Given the description of an element on the screen output the (x, y) to click on. 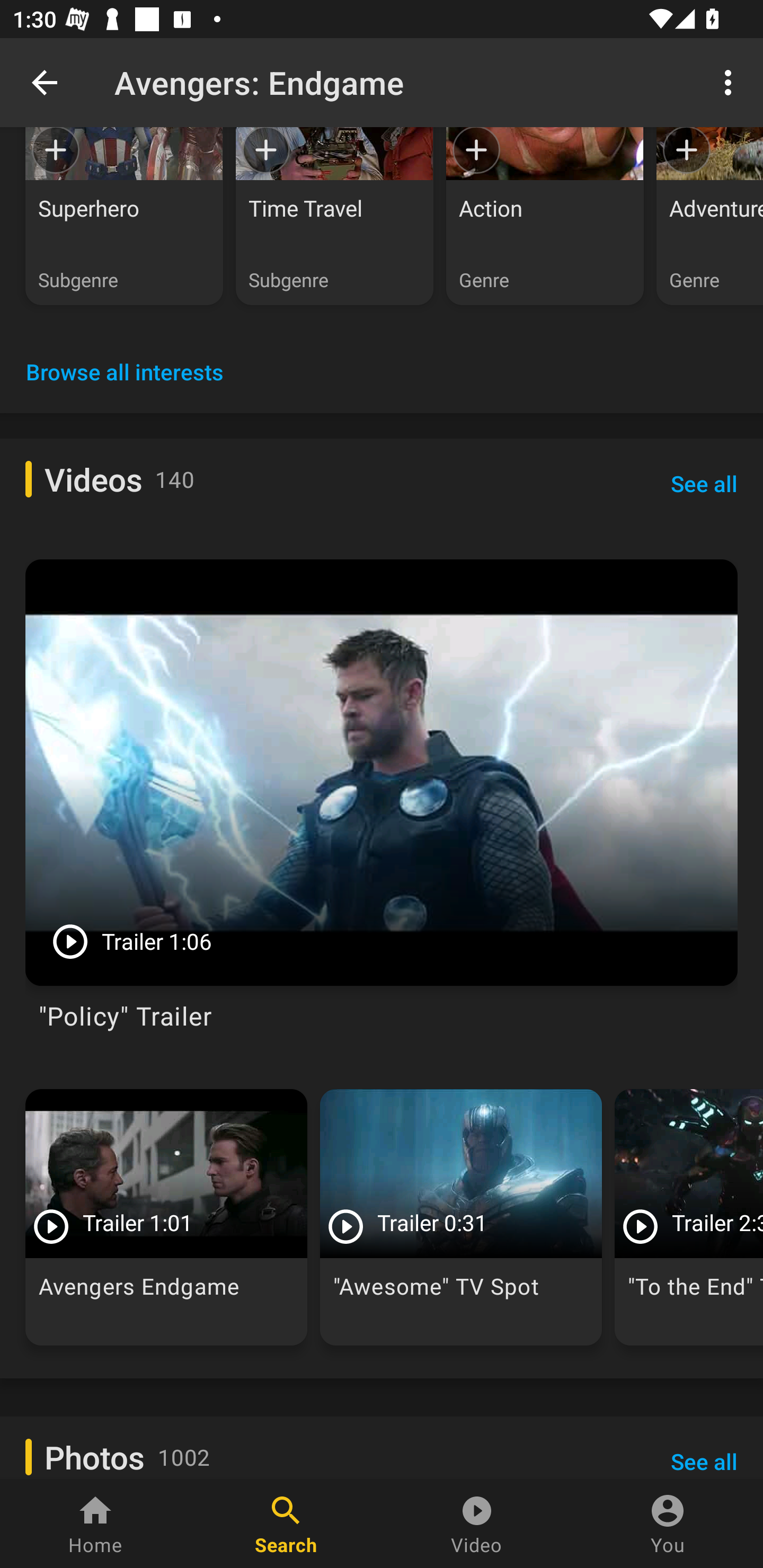
More options (731, 81)
Superhero Subgenre (123, 216)
Time Travel Subgenre (334, 216)
Action Genre (544, 216)
Browse all interests (124, 371)
See all See all Videos (703, 483)
Trailer 1:06 "Policy" Trailer (381, 801)
Trailer 1:01 Avengers Endgame (166, 1217)
Trailer 0:31 "Awesome" TV Spot (460, 1217)
Trailer 2:30 "To the End" Trailer (688, 1217)
See all See all Photos (703, 1450)
Home (95, 1523)
Video (476, 1523)
You (667, 1523)
